Given the description of an element on the screen output the (x, y) to click on. 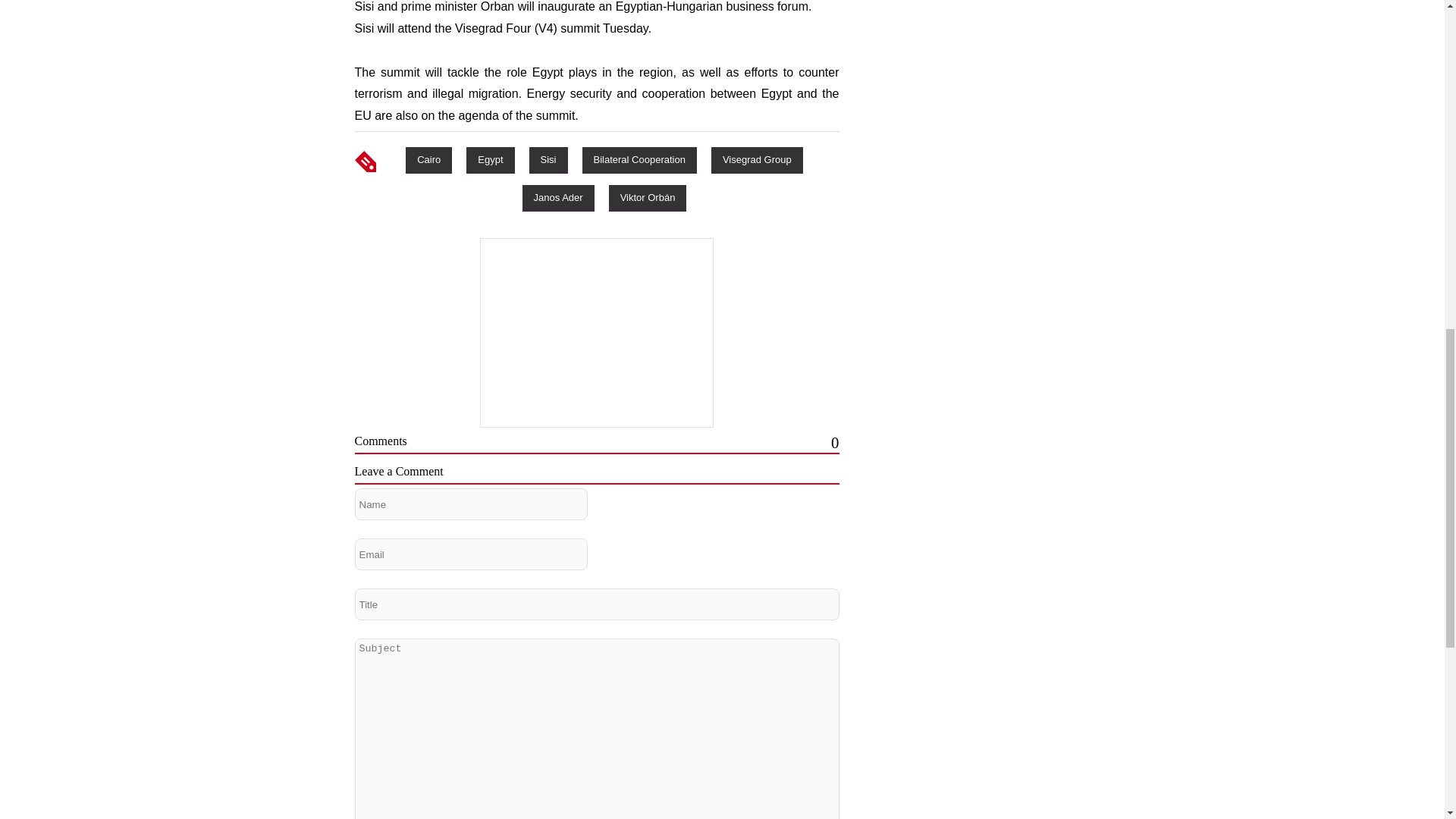
Cairo (428, 159)
Bilateral Cooperation (639, 159)
Visegrad Group (757, 159)
Sisi (548, 159)
Egypt (489, 159)
Janos Ader (558, 197)
